Given the description of an element on the screen output the (x, y) to click on. 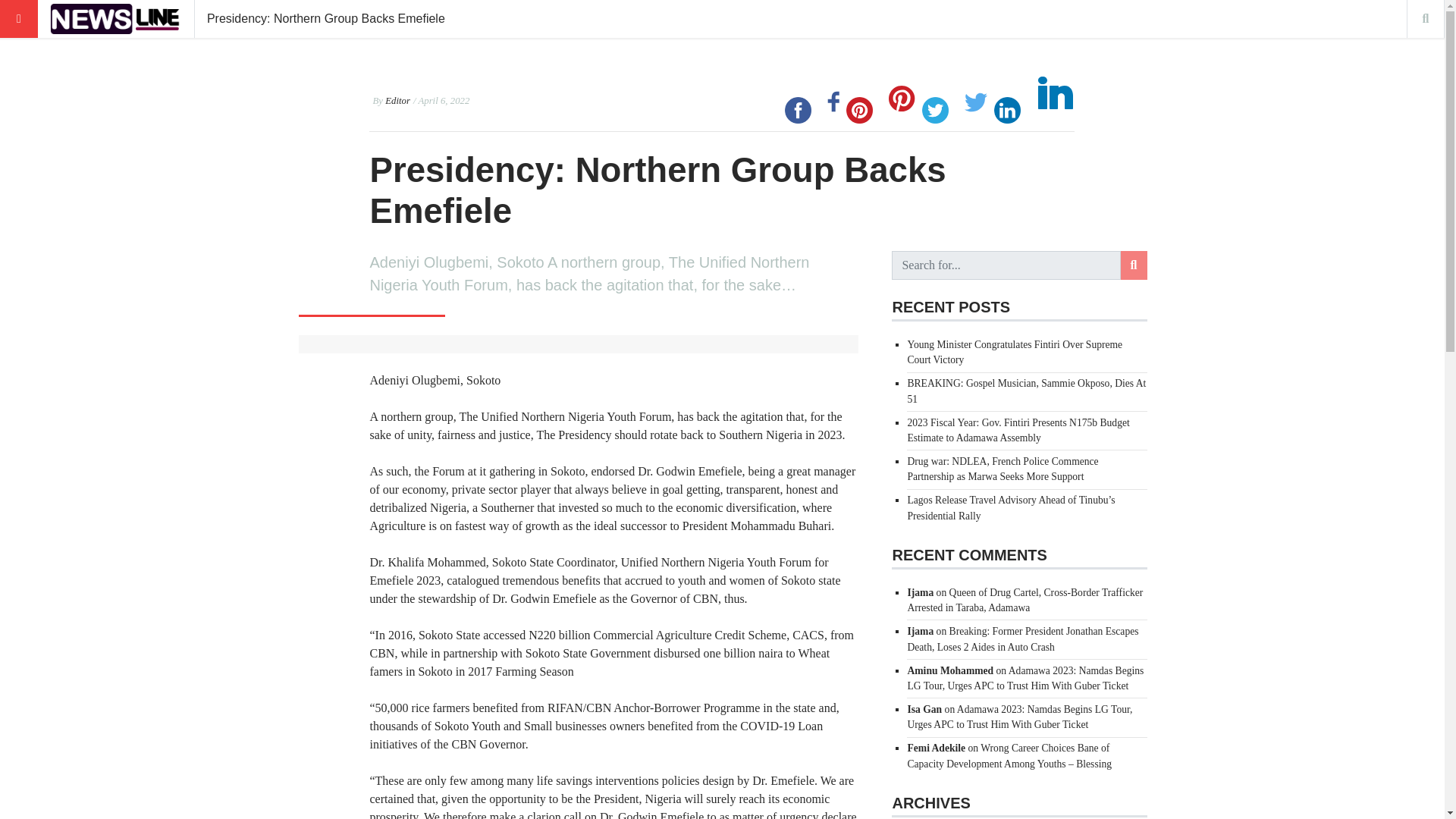
twitter (935, 109)
Posts by Editor (397, 100)
Editor (397, 100)
facebook (797, 109)
BREAKING: Gospel Musician, Sammie Okposo, Dies At 51 (1026, 390)
